Given the description of an element on the screen output the (x, y) to click on. 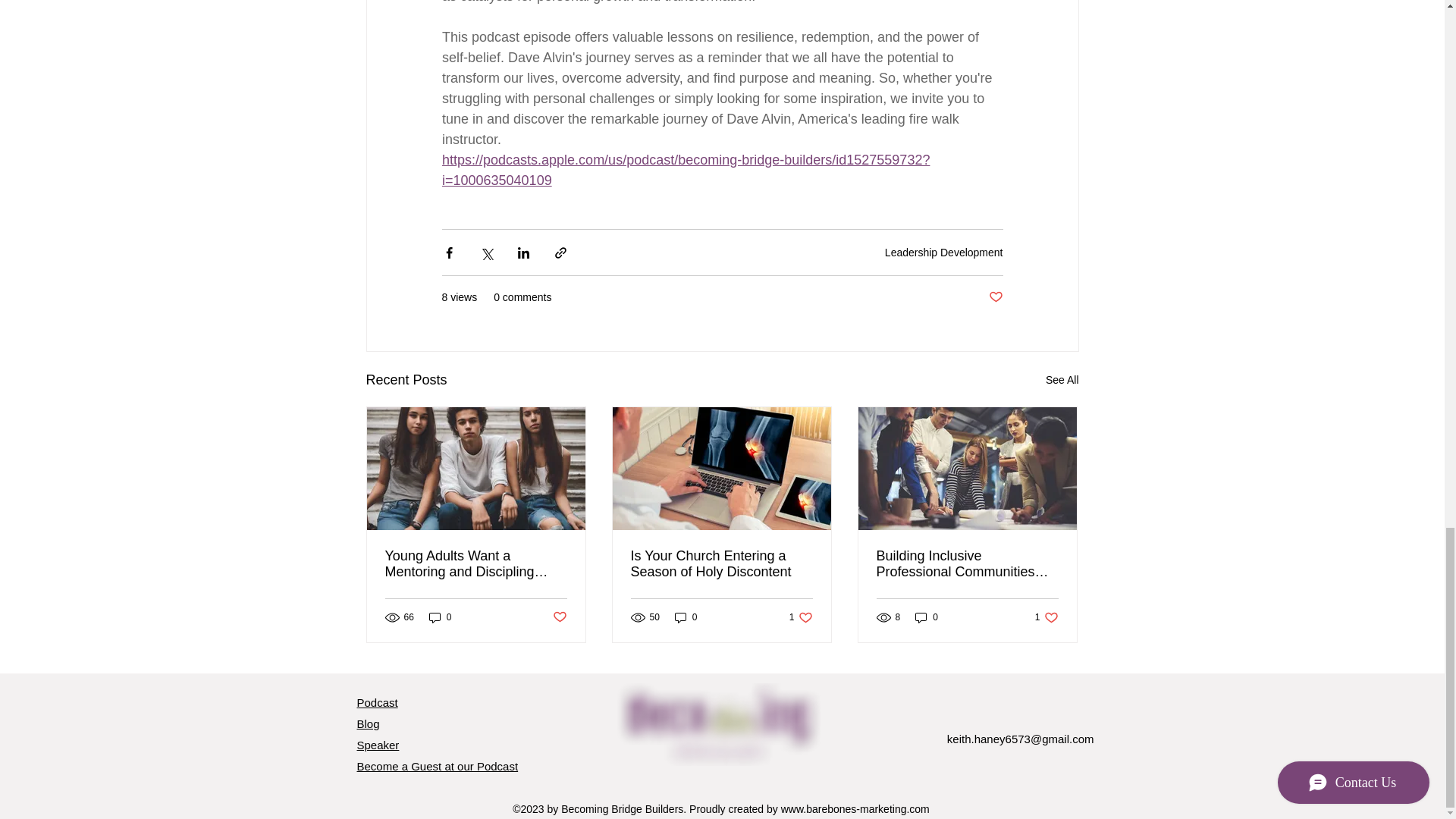
0 (800, 617)
Young Adults Want a Mentoring and Discipling Church (685, 617)
Is Your Church Entering a Season of Holy Discontent (476, 563)
Post not marked as liked (721, 563)
0 (558, 617)
Leadership Development (440, 617)
See All (944, 252)
Post not marked as liked (1061, 380)
